Given the description of an element on the screen output the (x, y) to click on. 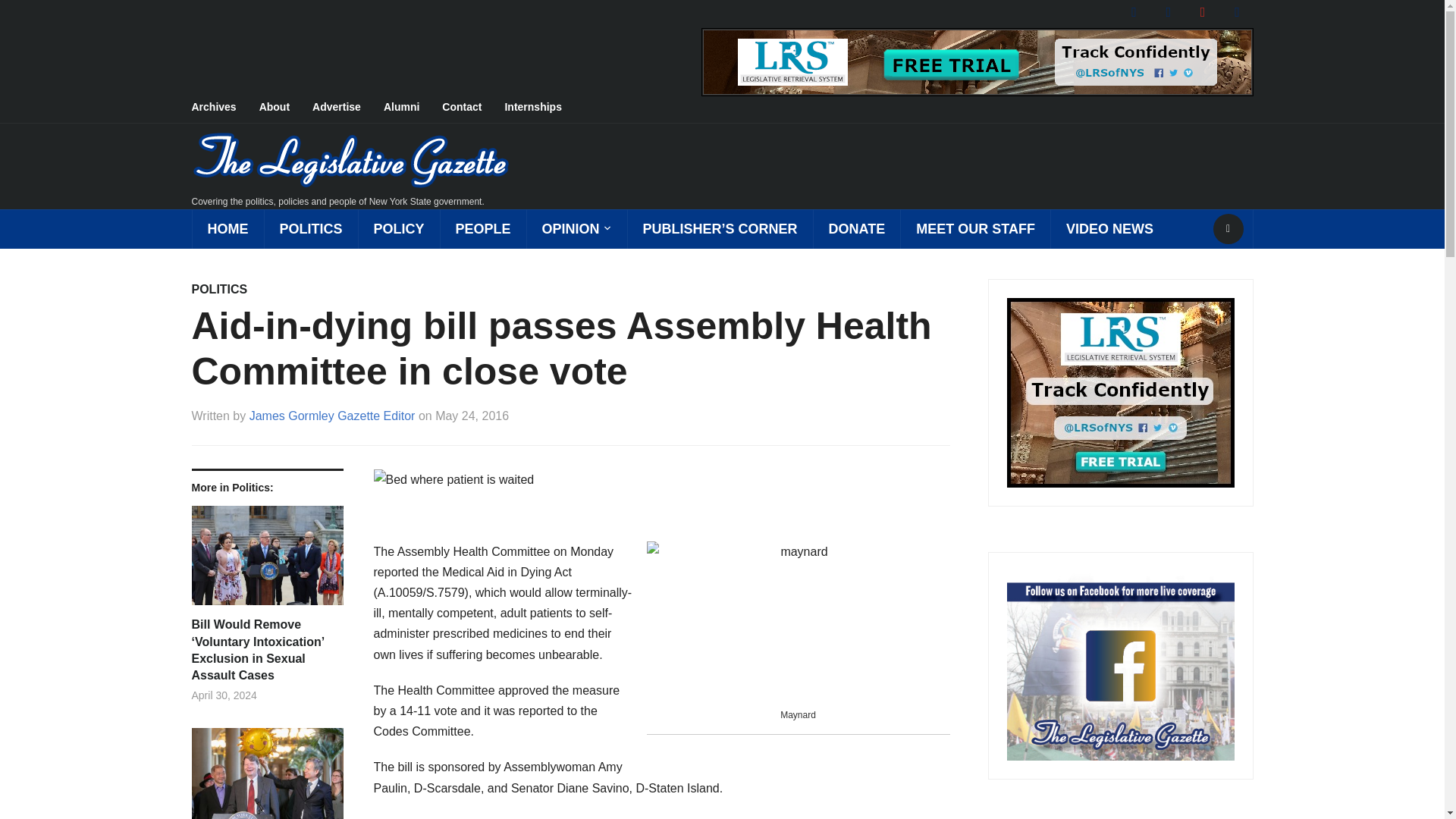
Default Label (1236, 10)
Internships (543, 107)
Advertise (348, 107)
About (286, 107)
HOME (226, 228)
Contact (472, 107)
Search (1227, 228)
Alumni (413, 107)
Follow Me (1168, 10)
Friend me on Facebook (1134, 10)
POLITICS (310, 228)
Archives (224, 107)
POLICY (398, 228)
